Given the description of an element on the screen output the (x, y) to click on. 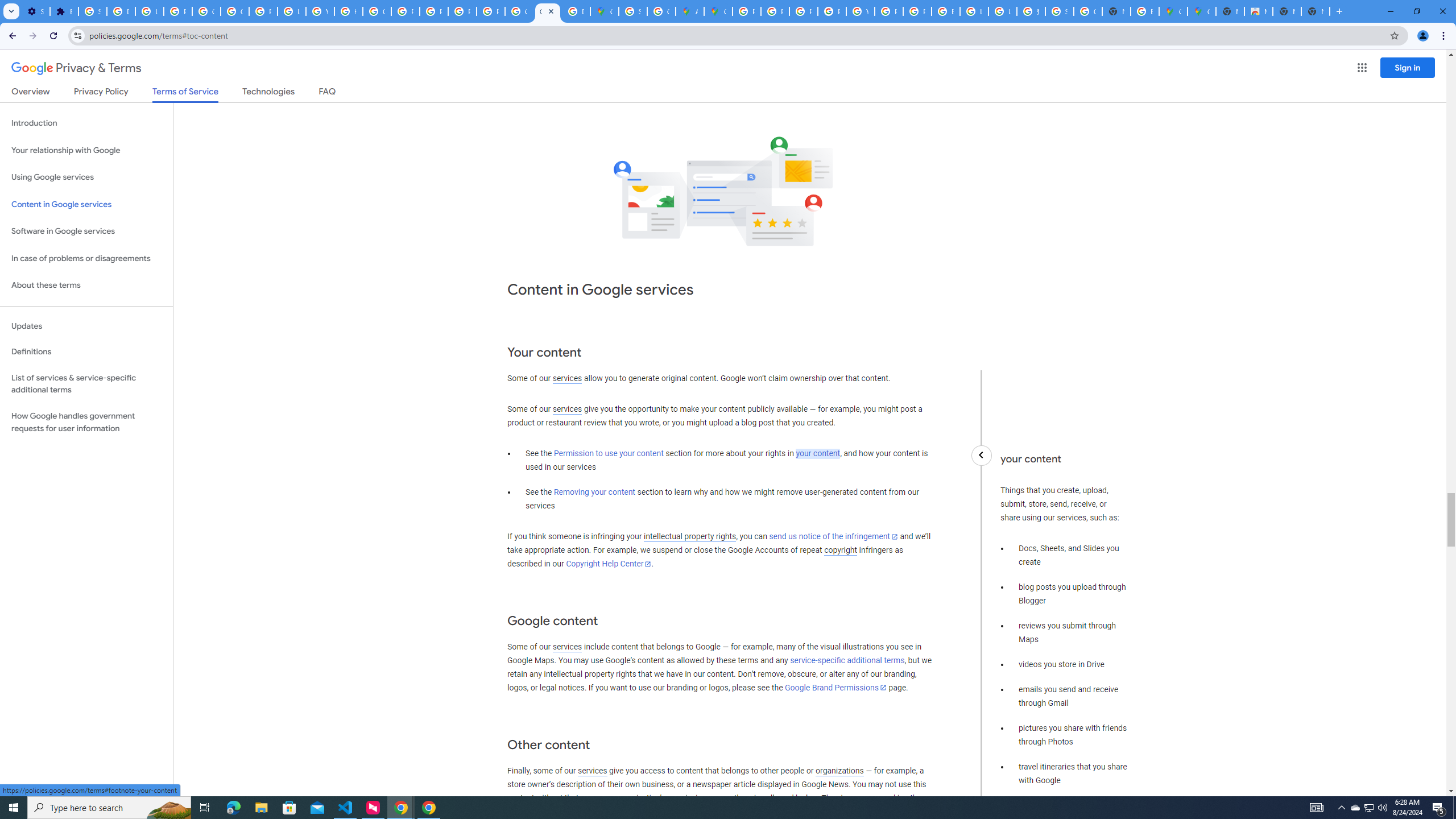
https://scholar.google.com/ (348, 11)
